Given the description of an element on the screen output the (x, y) to click on. 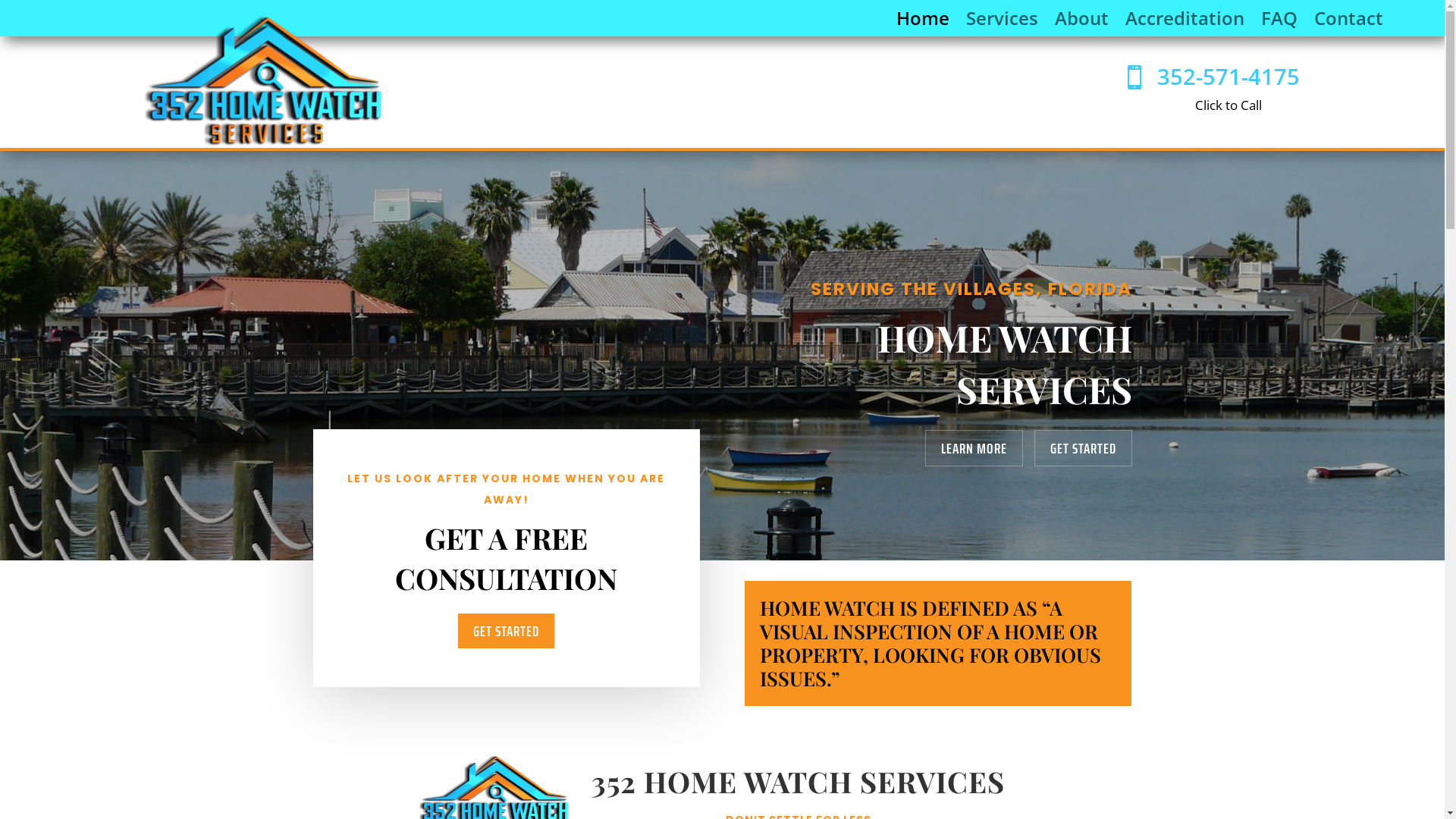
LEARN MORE Element type: text (973, 447)
Accreditation Element type: text (1184, 20)
FAQ Element type: text (1279, 20)
GET STARTED Element type: text (506, 630)
GET STARTED Element type: text (1083, 447)
352-571-4175 Element type: text (1228, 76)
Logo Transparent background 1 Element type: hover (264, 79)
About Element type: text (1081, 20)
Home Element type: text (922, 20)
Services Element type: text (1002, 20)
Contact Element type: text (1348, 20)
